Given the description of an element on the screen output the (x, y) to click on. 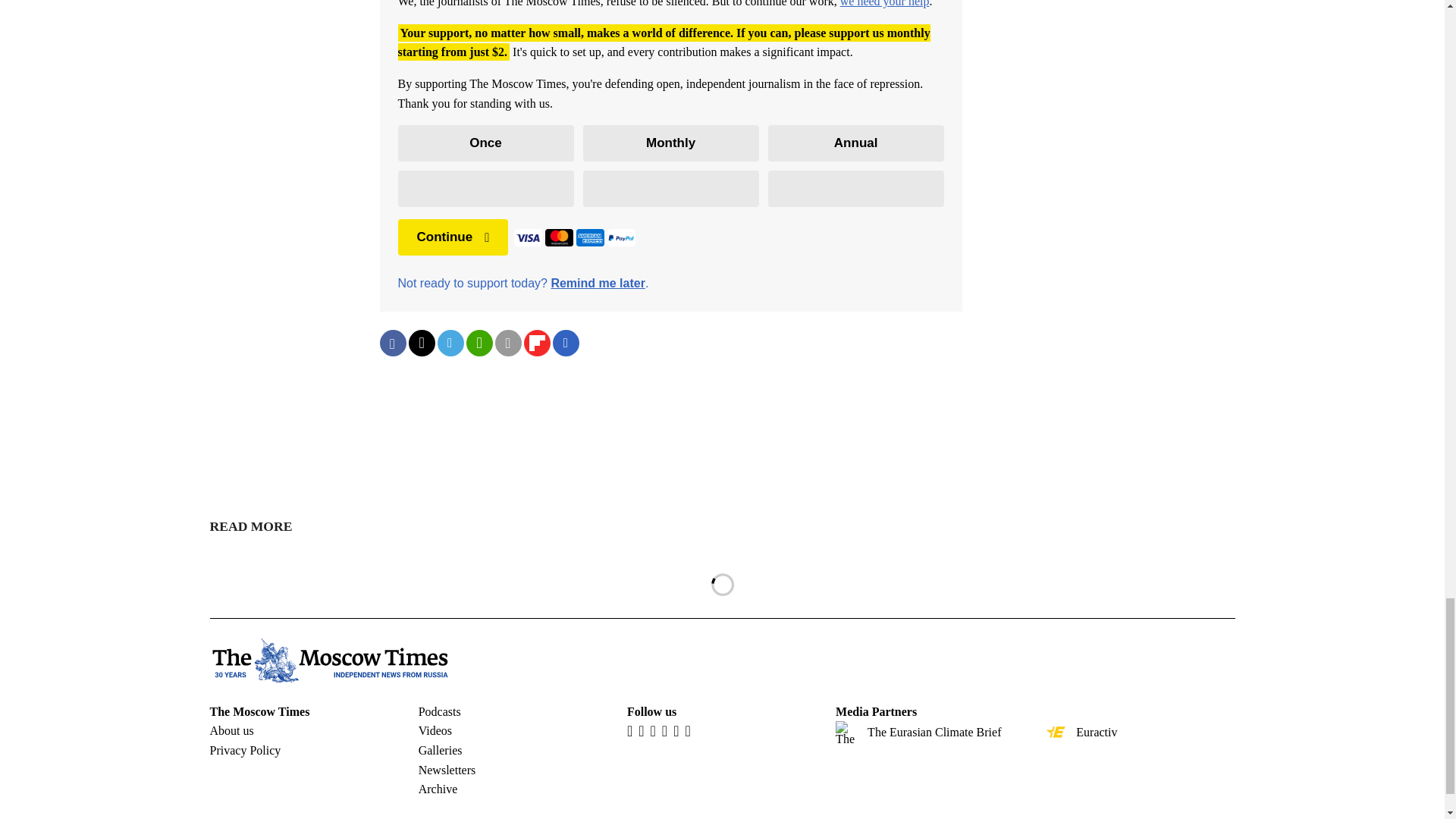
we need your help (885, 3)
Share on Facebook (392, 343)
Share on Twitter (420, 343)
Share on Flipboard (536, 343)
Share on Telegram (449, 343)
